Given the description of an element on the screen output the (x, y) to click on. 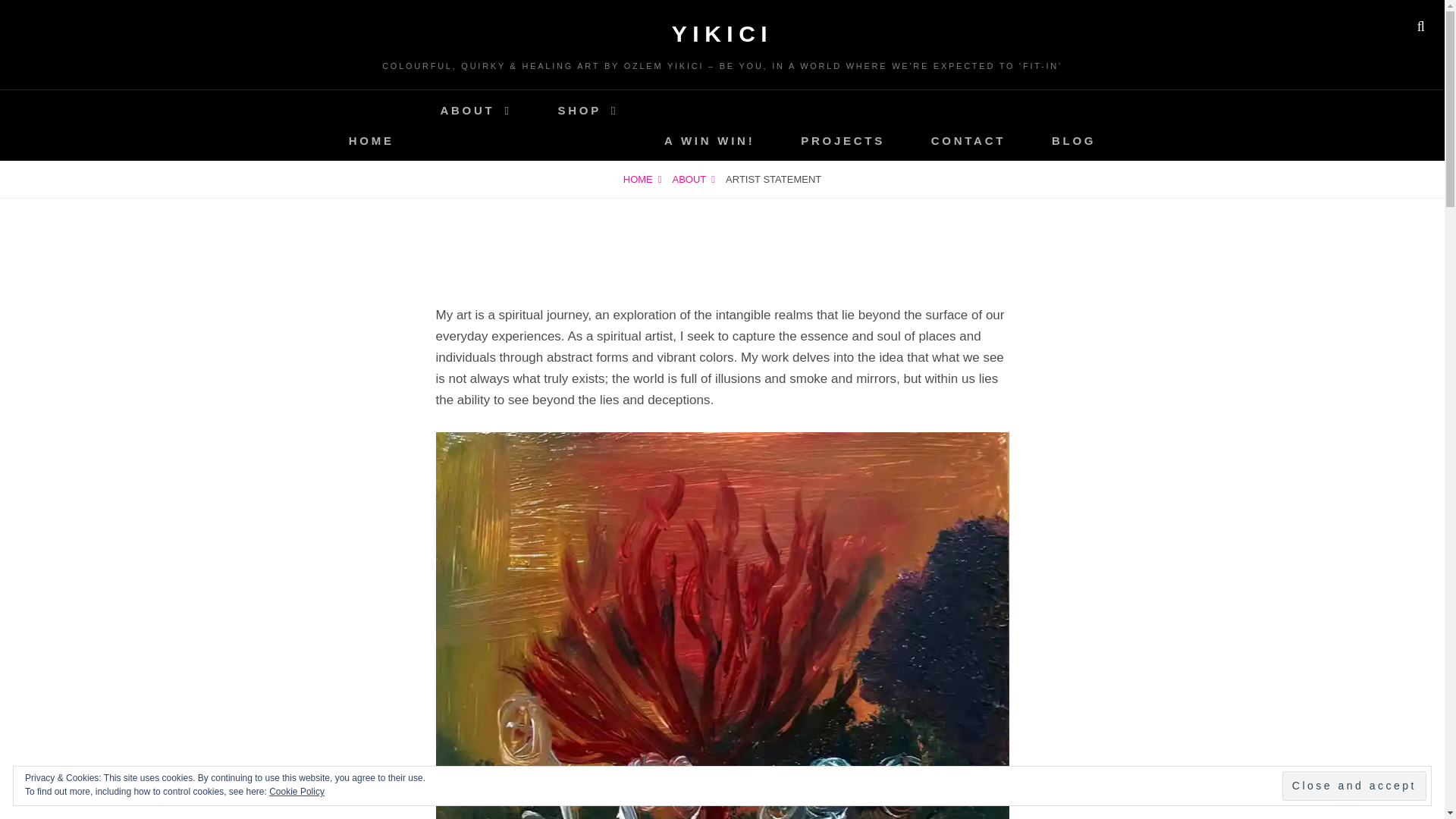
A WIN WIN! (709, 140)
ABOUT (475, 110)
CONTACT (968, 140)
Close and accept (1354, 785)
HOME (641, 179)
EXPAND CHILD MENU (587, 144)
YIKICI (722, 33)
HOME (370, 140)
EXPAND CHILD MENU (475, 144)
SHOP (588, 110)
